Given the description of an element on the screen output the (x, y) to click on. 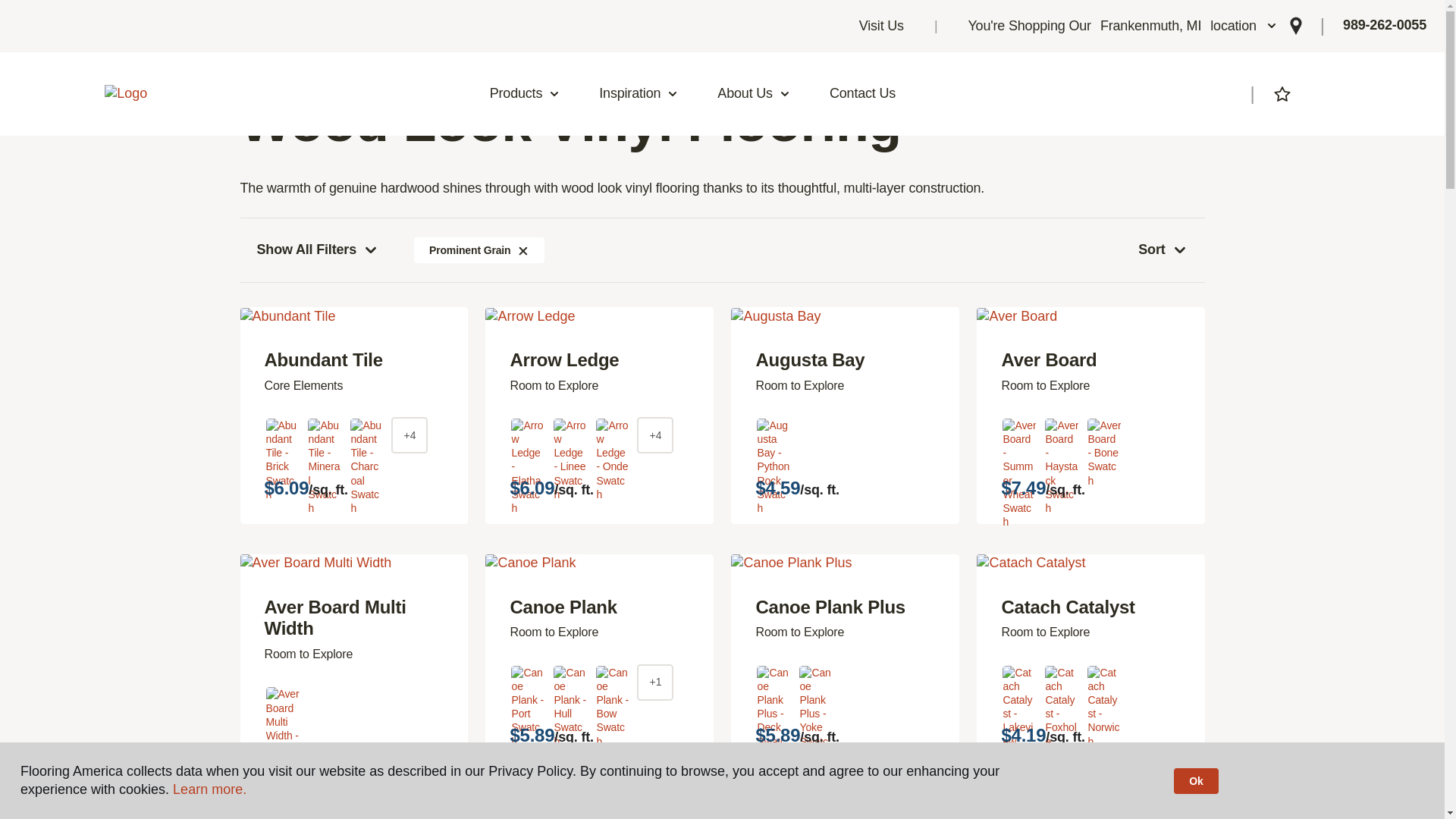
989-262-0055 (1384, 25)
Products (525, 94)
Inspiration (638, 94)
Contact Us (862, 94)
About Us (1122, 26)
Visit Us (753, 94)
